Given the description of an element on the screen output the (x, y) to click on. 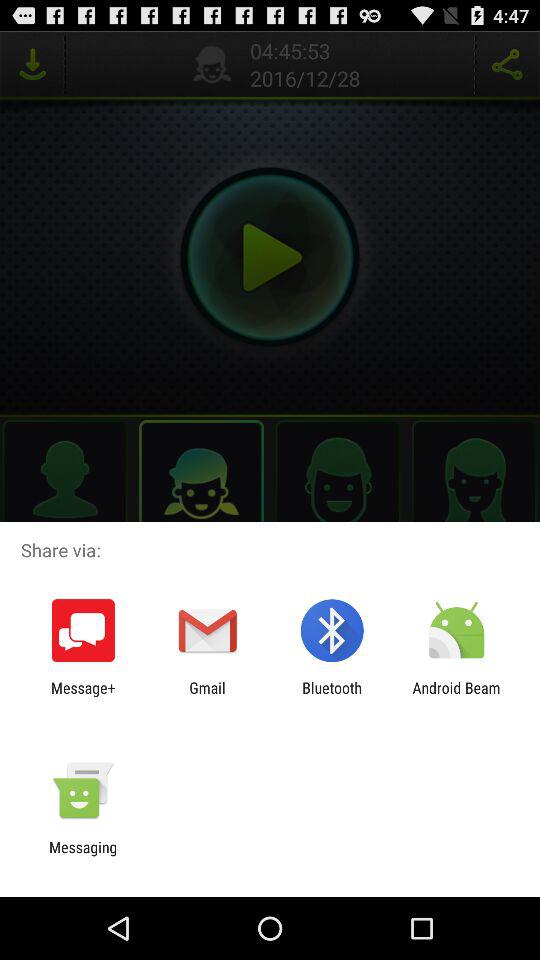
click the app next to bluetooth app (207, 696)
